Given the description of an element on the screen output the (x, y) to click on. 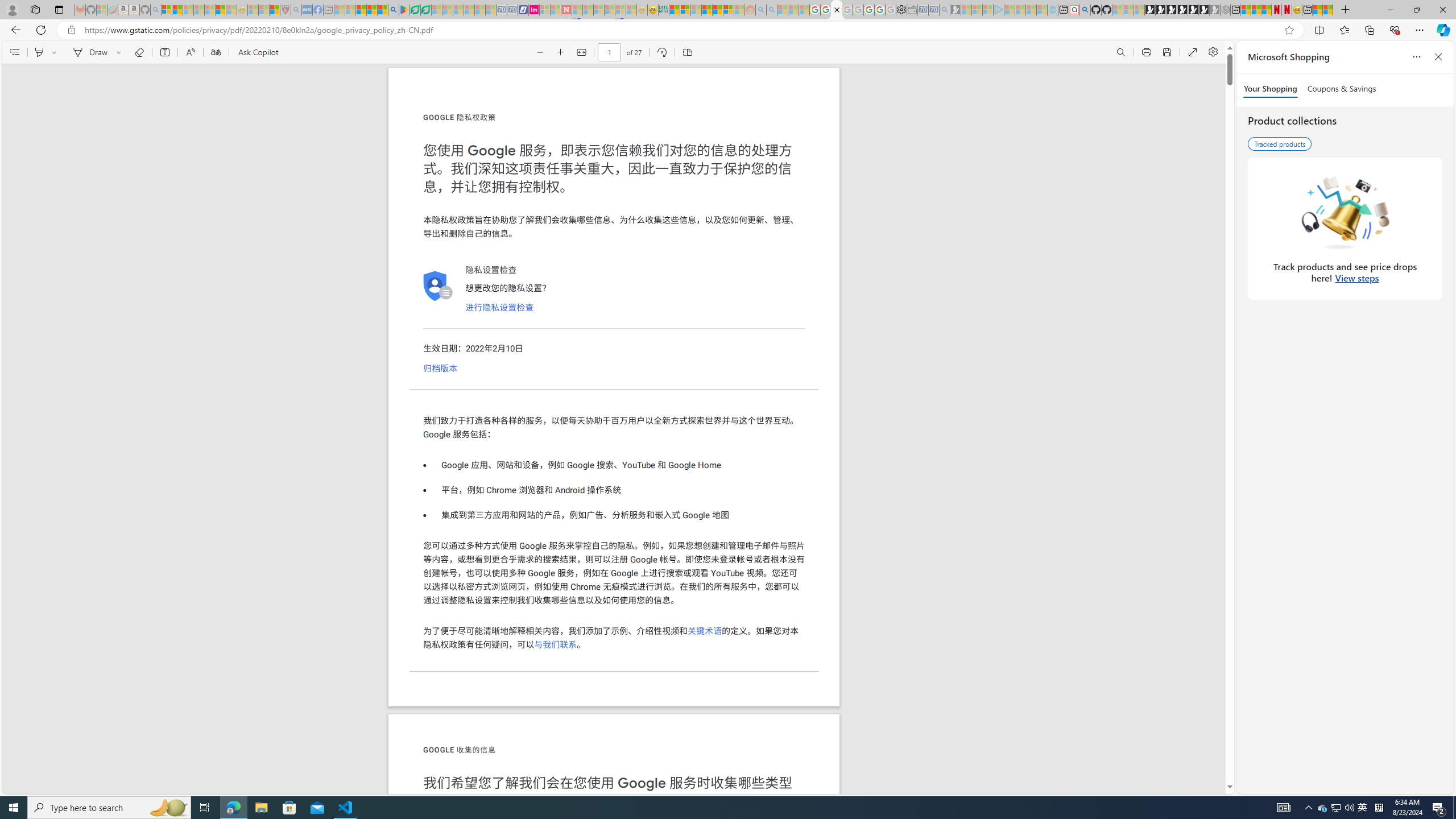
Print (Ctrl+P) (1146, 52)
Bluey: Let's Play! - Apps on Google Play (404, 9)
Select ink properties (120, 52)
Enter PDF full screen (1192, 52)
